Given the description of an element on the screen output the (x, y) to click on. 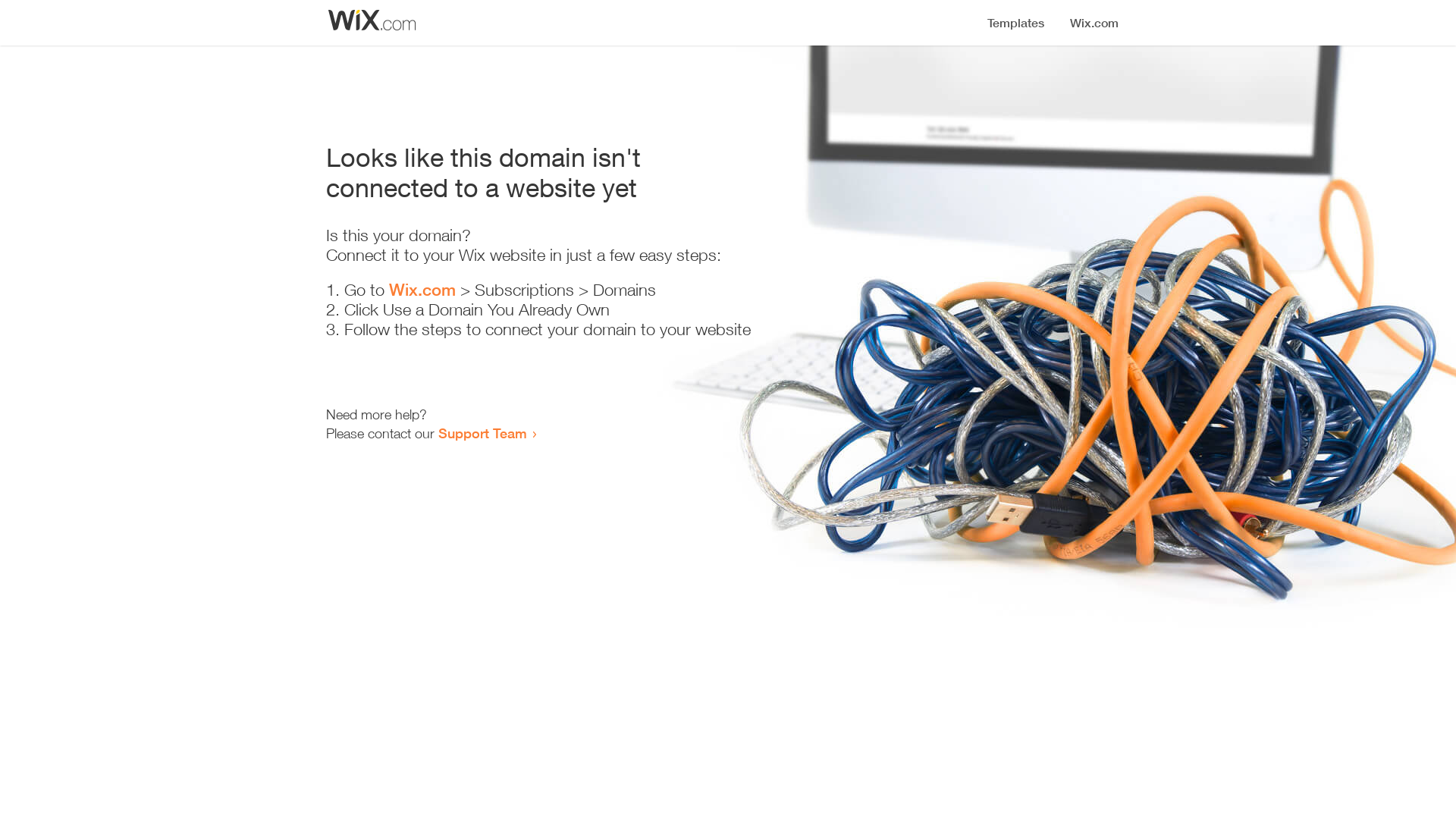
Wix.com Element type: text (422, 289)
Support Team Element type: text (482, 432)
